Given the description of an element on the screen output the (x, y) to click on. 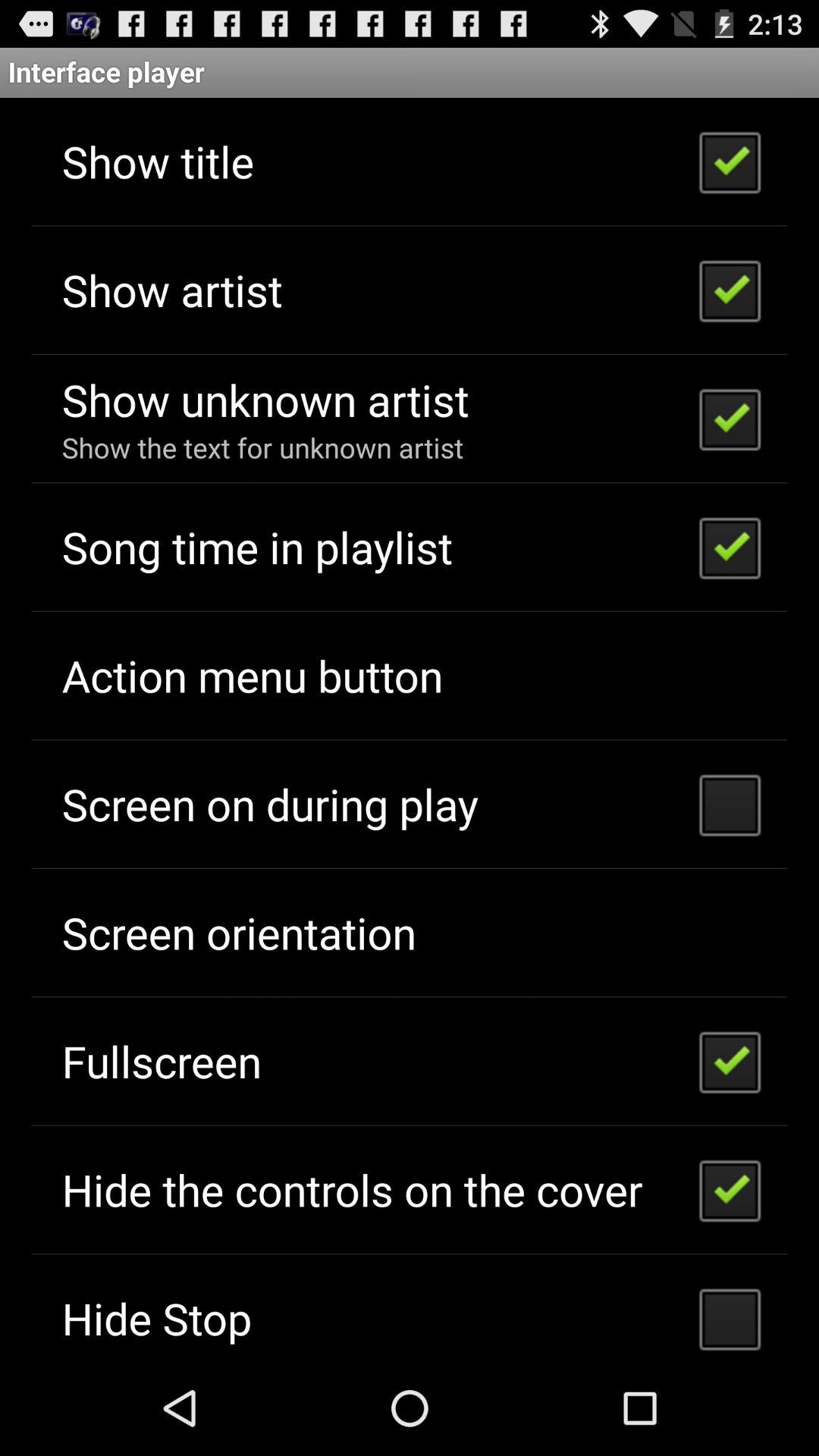
scroll to the song time in (256, 546)
